Given the description of an element on the screen output the (x, y) to click on. 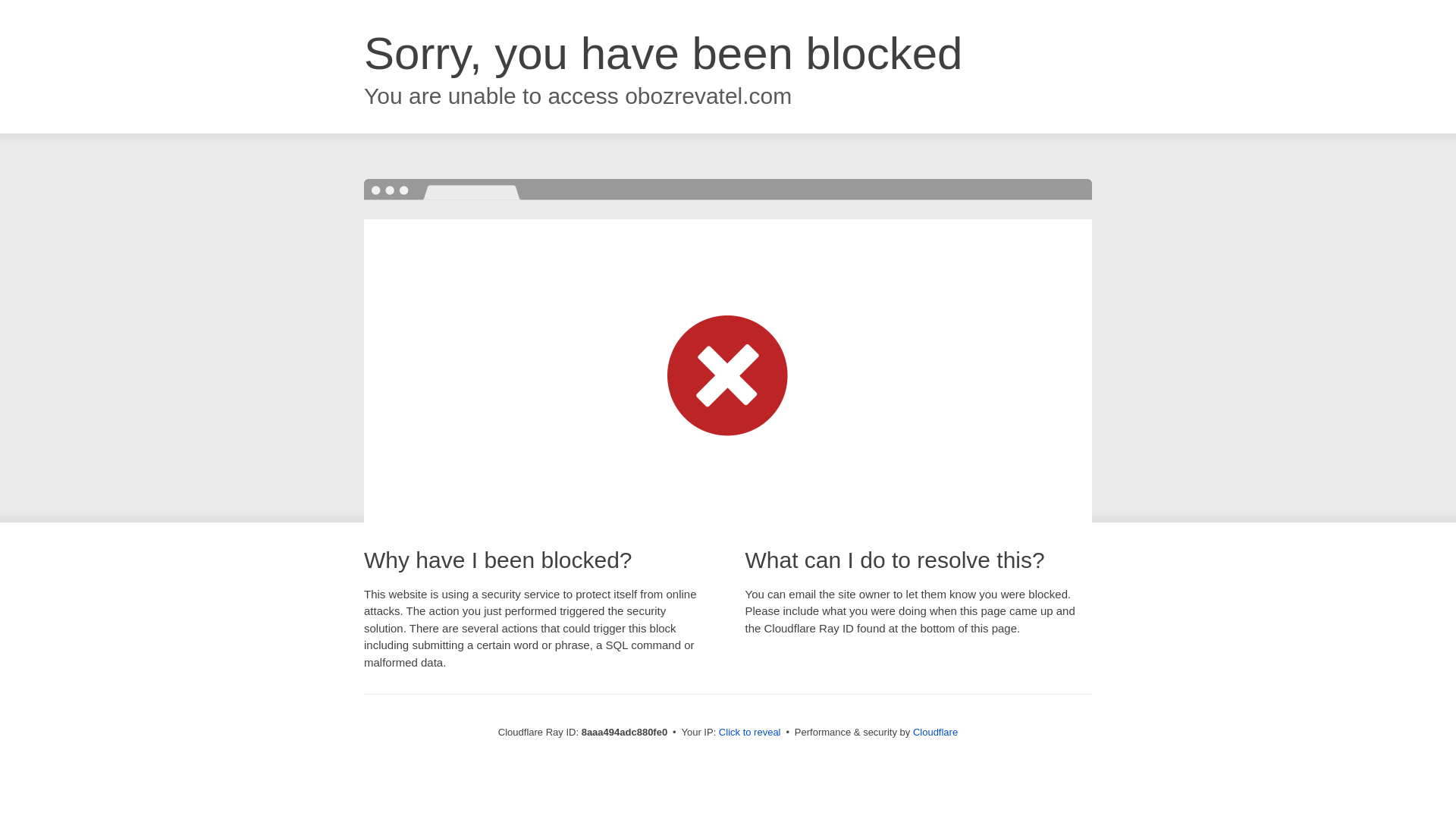
Cloudflare (935, 731)
Click to reveal (749, 732)
